Given the description of an element on the screen output the (x, y) to click on. 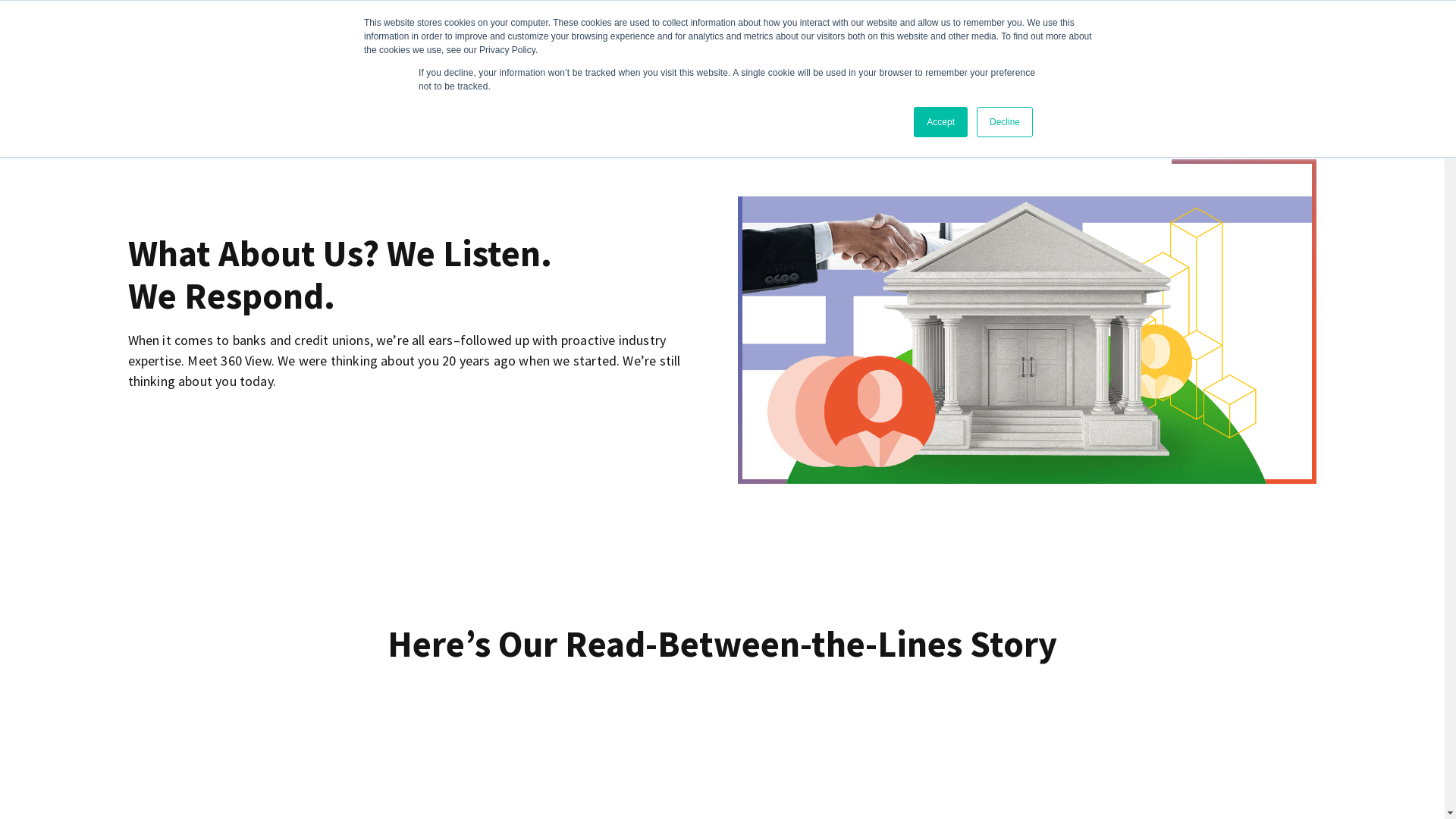
Accept Element type: text (940, 121)
Pricing Element type: text (962, 33)
Decline Element type: text (1004, 121)
REQUEST A DEMO Element type: text (1160, 33)
Our Approach Element type: text (882, 33)
Solutions Element type: text (800, 33)
